Given the description of an element on the screen output the (x, y) to click on. 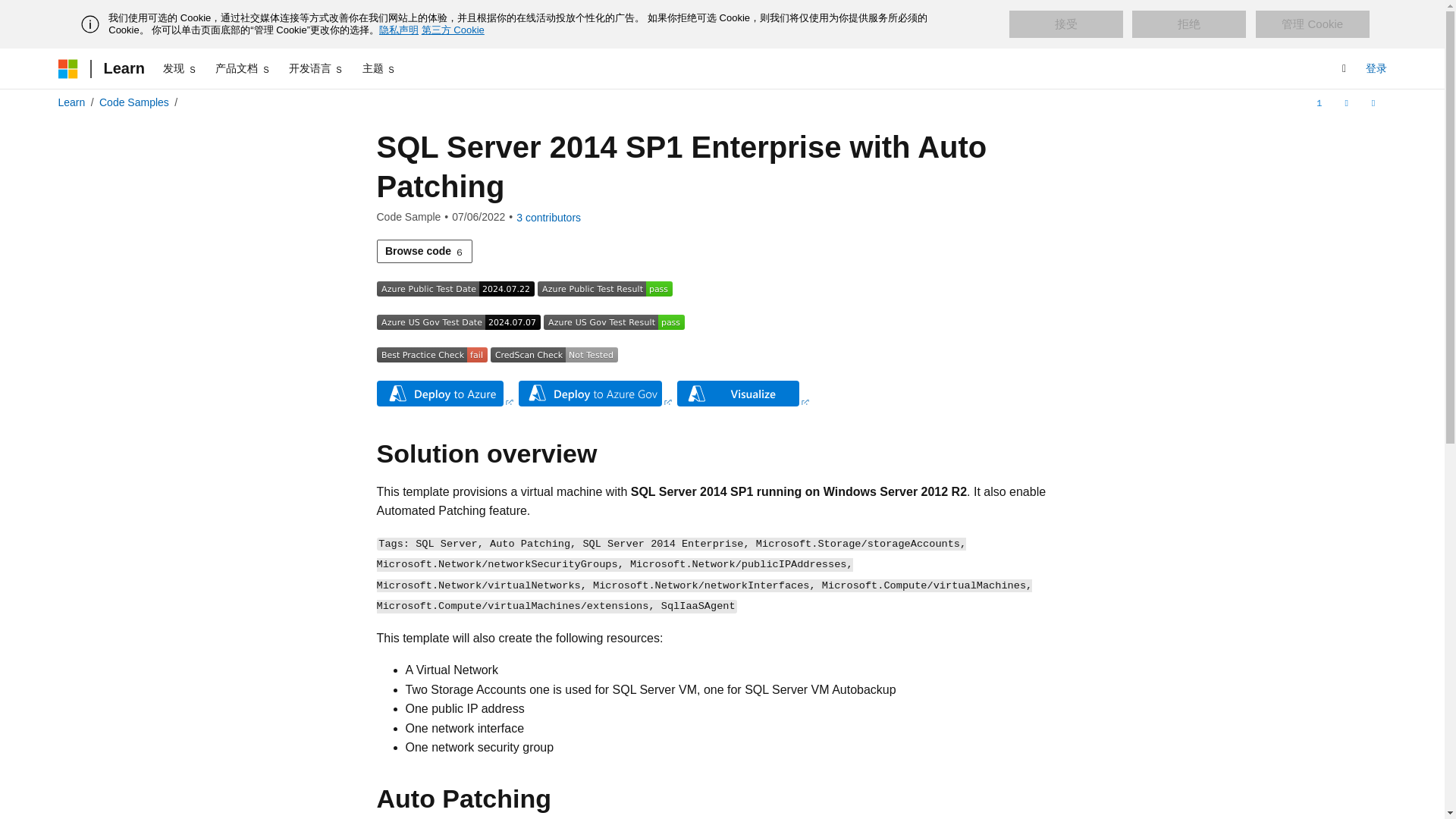
Learn (71, 102)
Learn (123, 68)
Code Samples (133, 102)
View all contributors (548, 217)
